Given the description of an element on the screen output the (x, y) to click on. 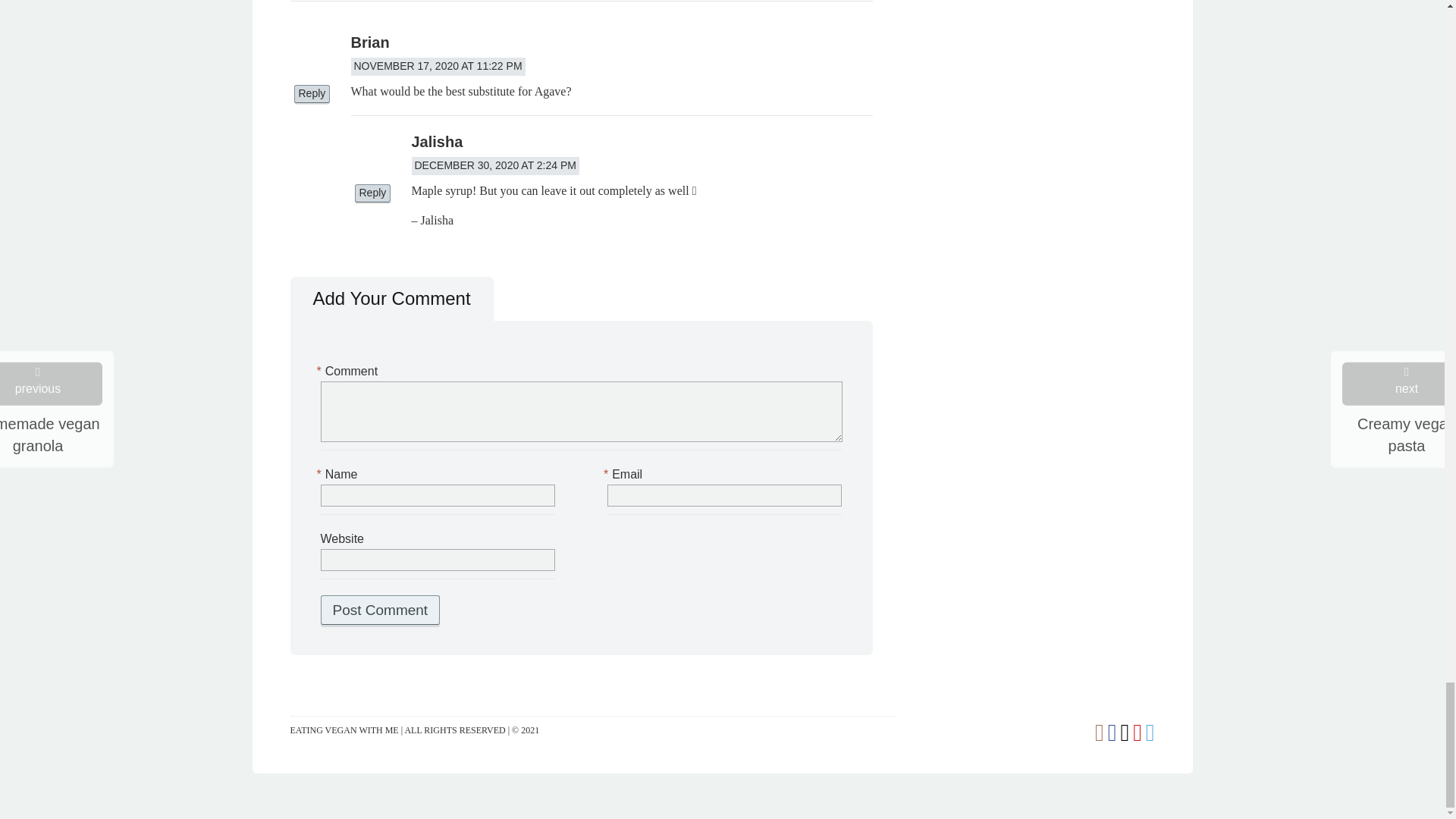
Post Comment (379, 609)
